Given the description of an element on the screen output the (x, y) to click on. 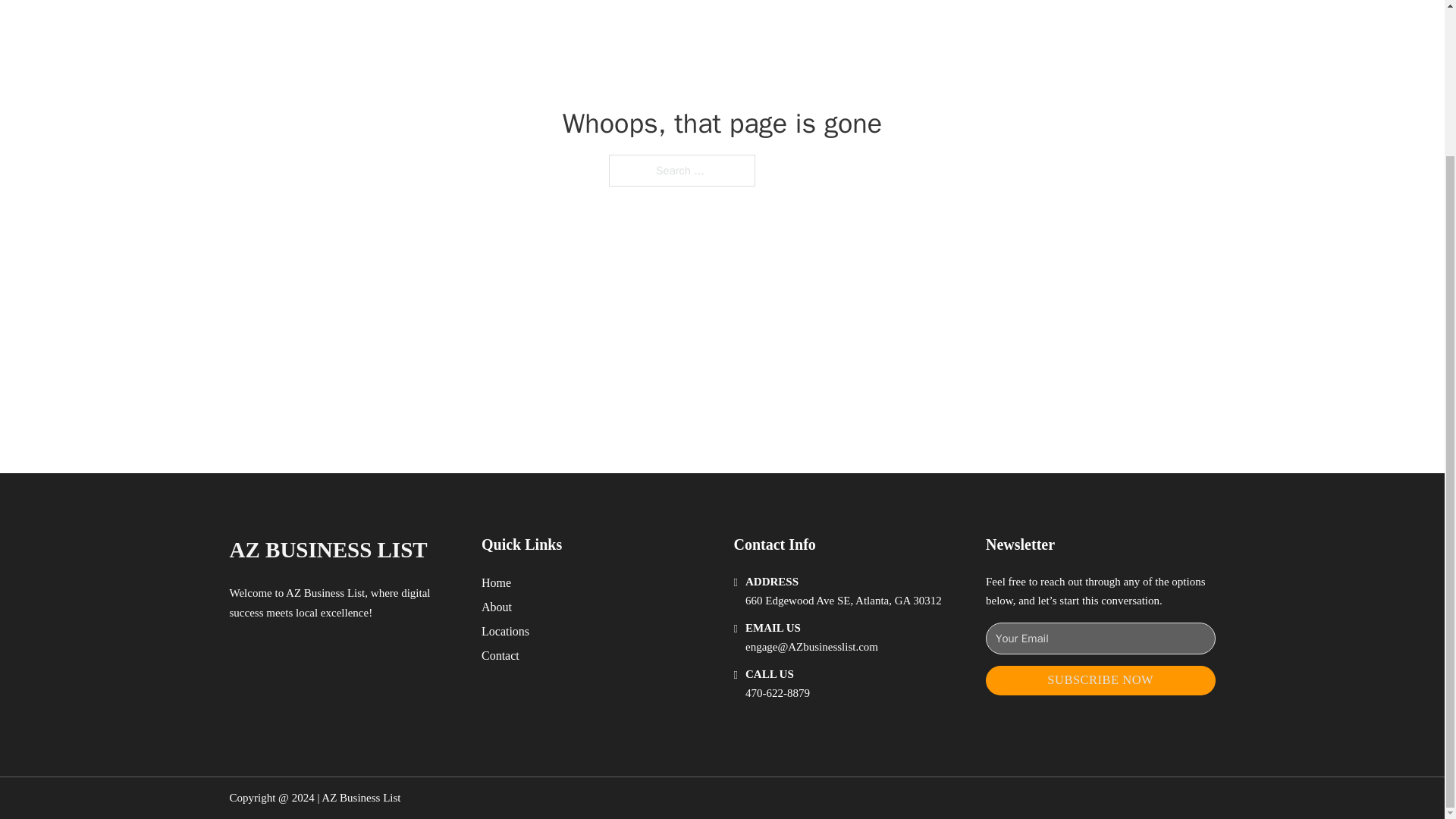
AZ BUSINESS LIST (327, 549)
Contact (500, 655)
470-622-8879 (777, 693)
SUBSCRIBE NOW (1100, 680)
Locations (505, 630)
Home (496, 582)
About (496, 607)
